Given the description of an element on the screen output the (x, y) to click on. 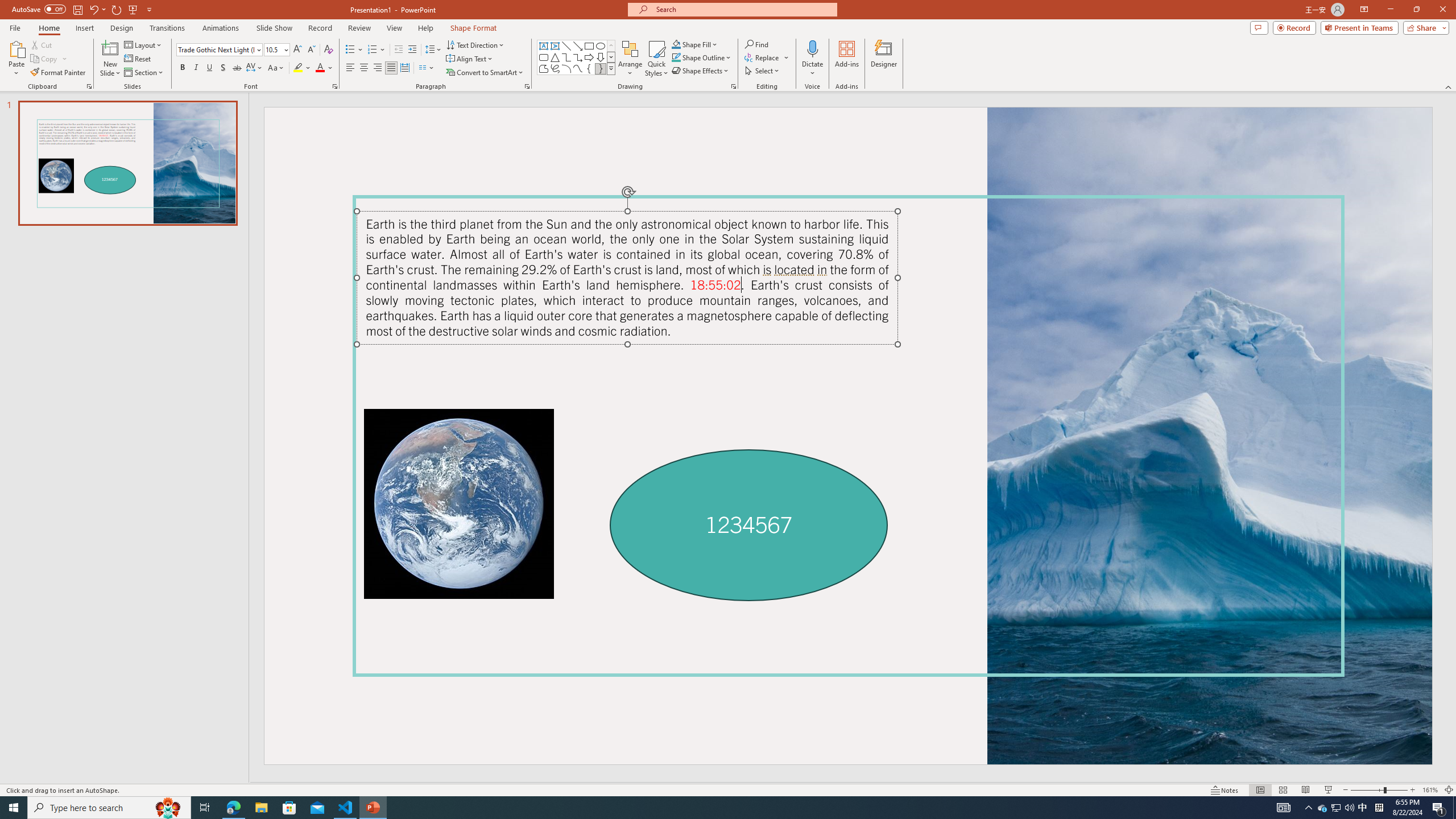
Shape Outline (701, 56)
Shape Effects (700, 69)
Paragraph... (526, 85)
Connector: Elbow Arrow (577, 57)
Shape Outline Teal, Accent 1 (675, 56)
Text Highlight Color Yellow (297, 67)
Font Color Red (320, 67)
Line (566, 45)
